Given the description of an element on the screen output the (x, y) to click on. 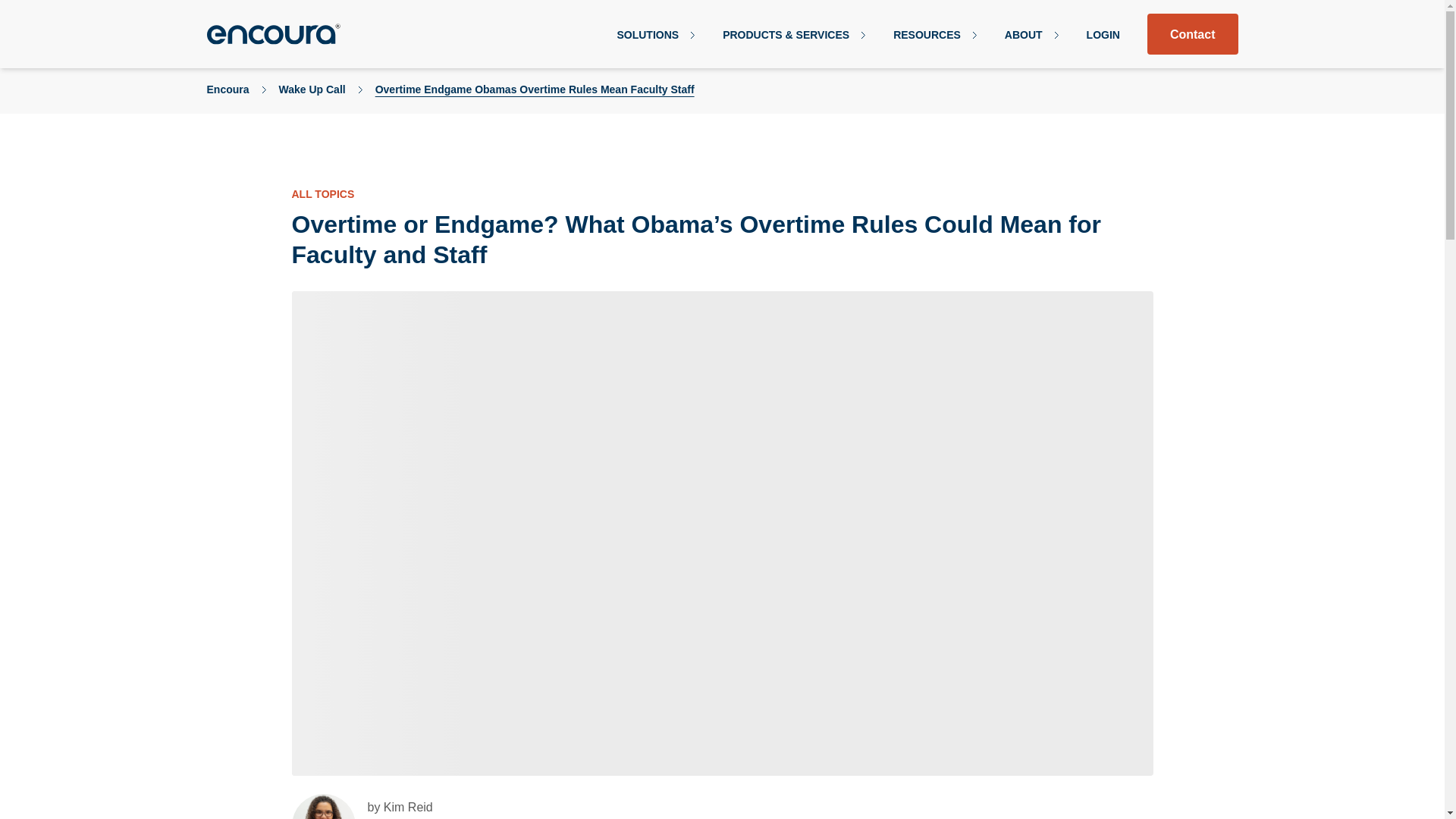
LOGIN (1102, 35)
Contact (1193, 33)
ABOUT (1031, 35)
SOLUTIONS (655, 35)
RESOURCES (934, 35)
Contact (1192, 33)
